Given the description of an element on the screen output the (x, y) to click on. 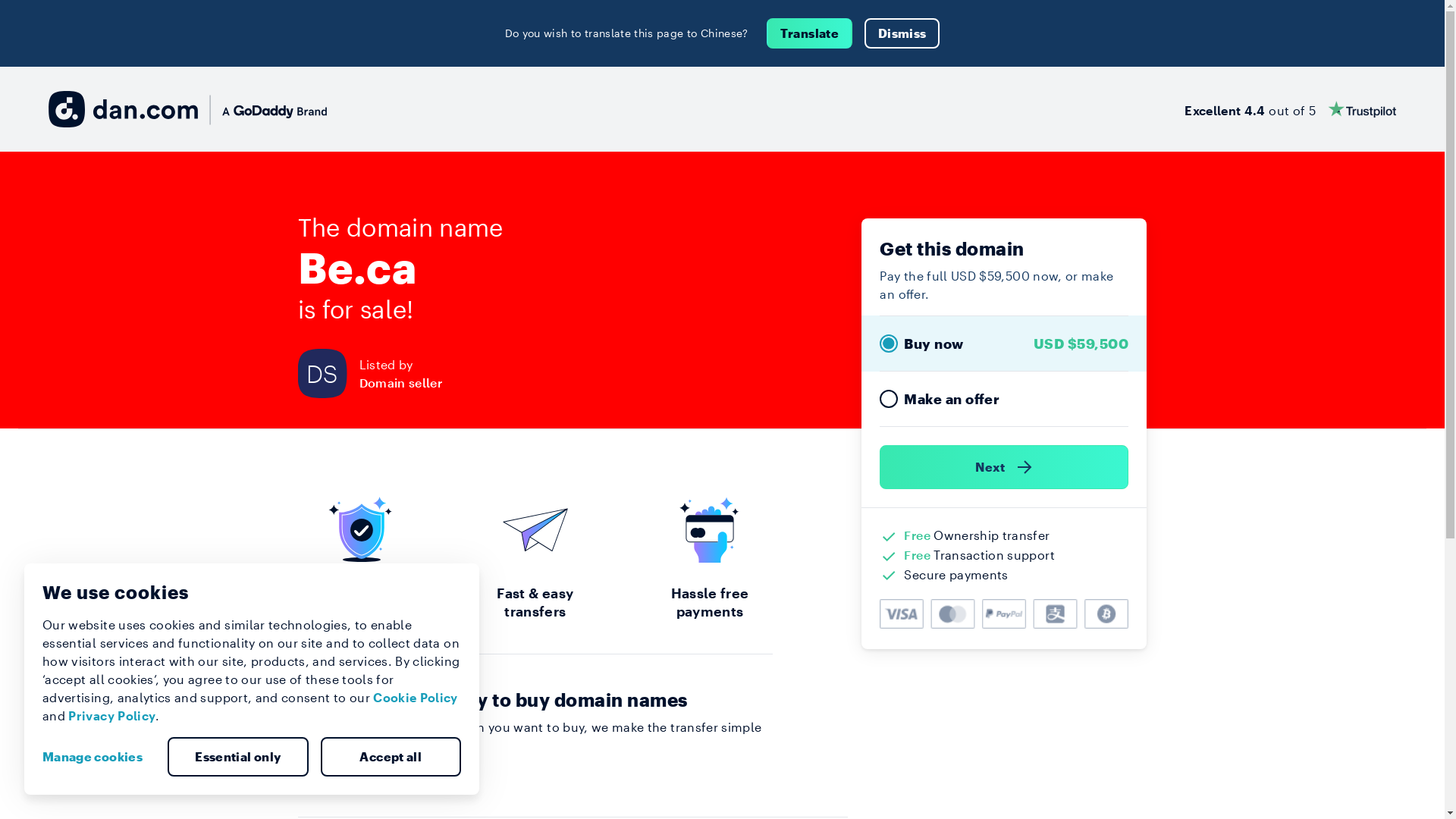
Excellent 4.4 out of 5 Element type: text (1290, 109)
Translate Element type: text (809, 33)
Next
) Element type: text (1003, 467)
Dismiss Element type: text (901, 33)
DS Element type: text (327, 373)
Cookie Policy Element type: text (415, 697)
Privacy Policy Element type: text (111, 715)
Essential only Element type: text (237, 756)
Accept all Element type: text (390, 756)
Manage cookies Element type: text (98, 756)
